Given the description of an element on the screen output the (x, y) to click on. 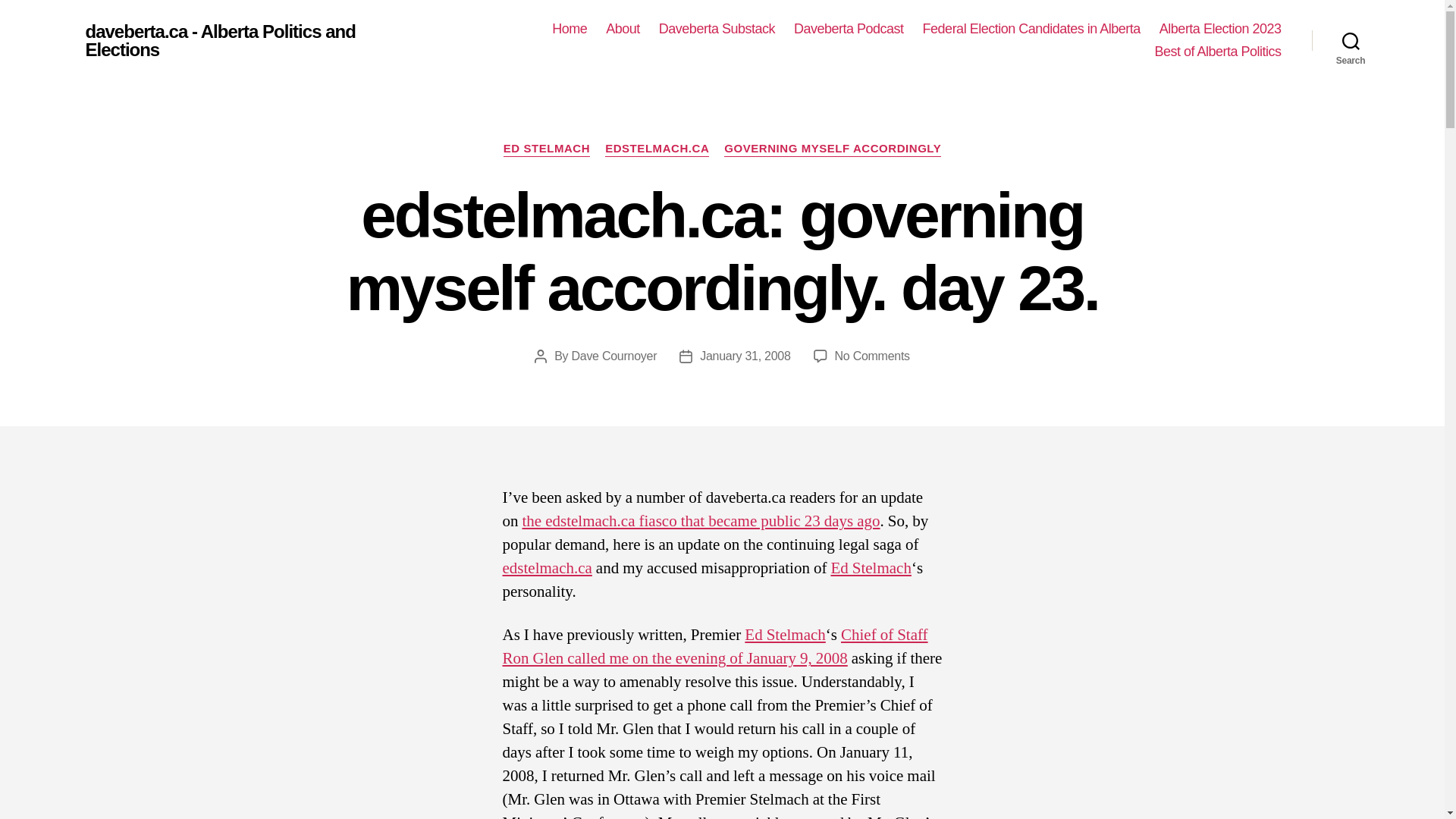
Search (1350, 40)
Daveberta Podcast (848, 29)
Ed Stelmach (870, 567)
ED STELMACH (546, 149)
Home (568, 29)
GOVERNING MYSELF ACCORDINGLY (831, 149)
Dave Cournoyer (613, 355)
Best of Alberta Politics (1217, 52)
